Given the description of an element on the screen output the (x, y) to click on. 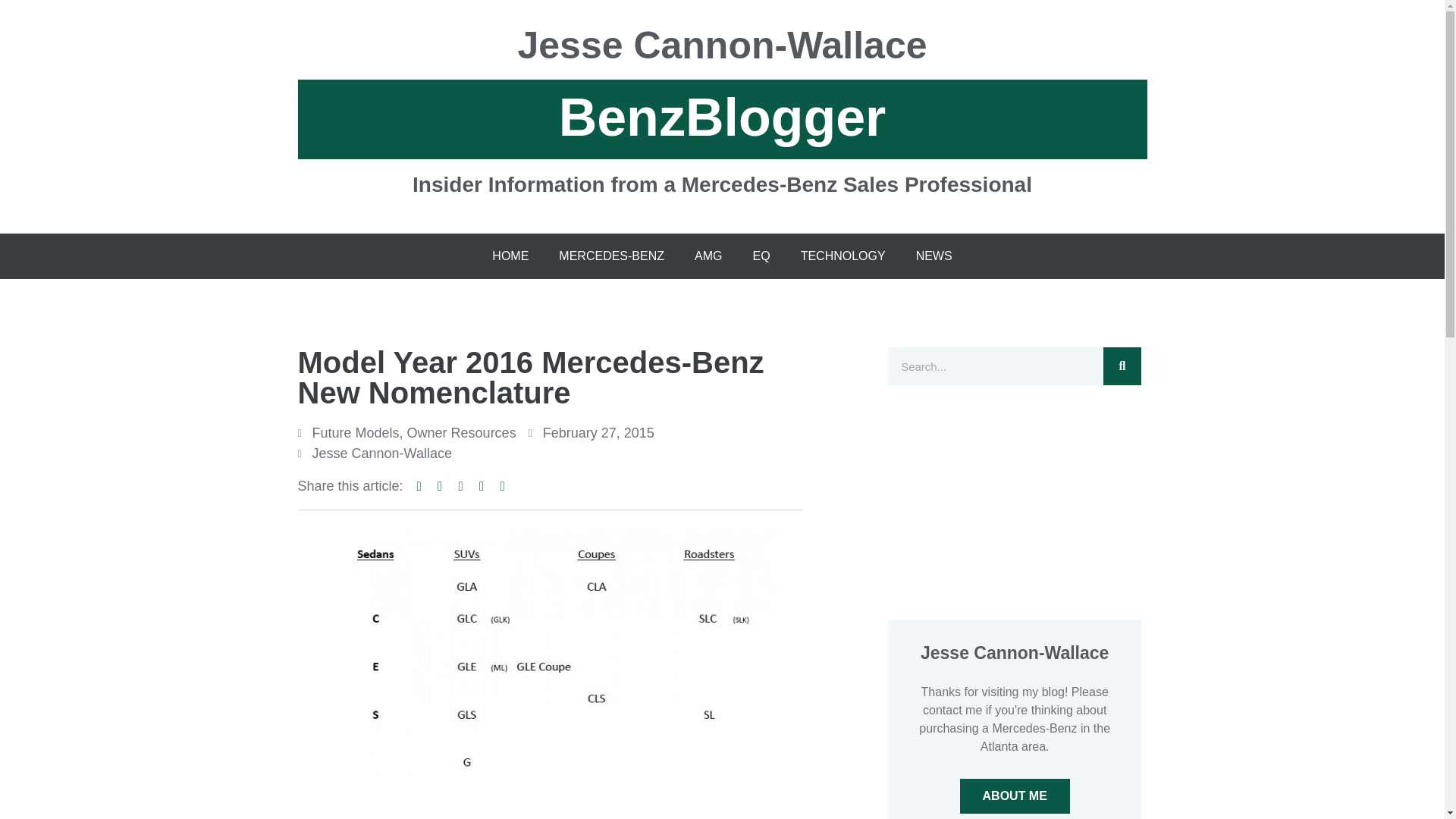
Mercedes new names (548, 658)
Insider Information from a Mercedes-Benz Sales Professional (722, 176)
MERCEDES-BENZ (611, 255)
NEWS (933, 255)
HOME (509, 255)
Jesse Cannon-Wallace (722, 52)
Owner Resources (461, 432)
AMG (708, 255)
Search (995, 365)
EQ (760, 255)
